Given the description of an element on the screen output the (x, y) to click on. 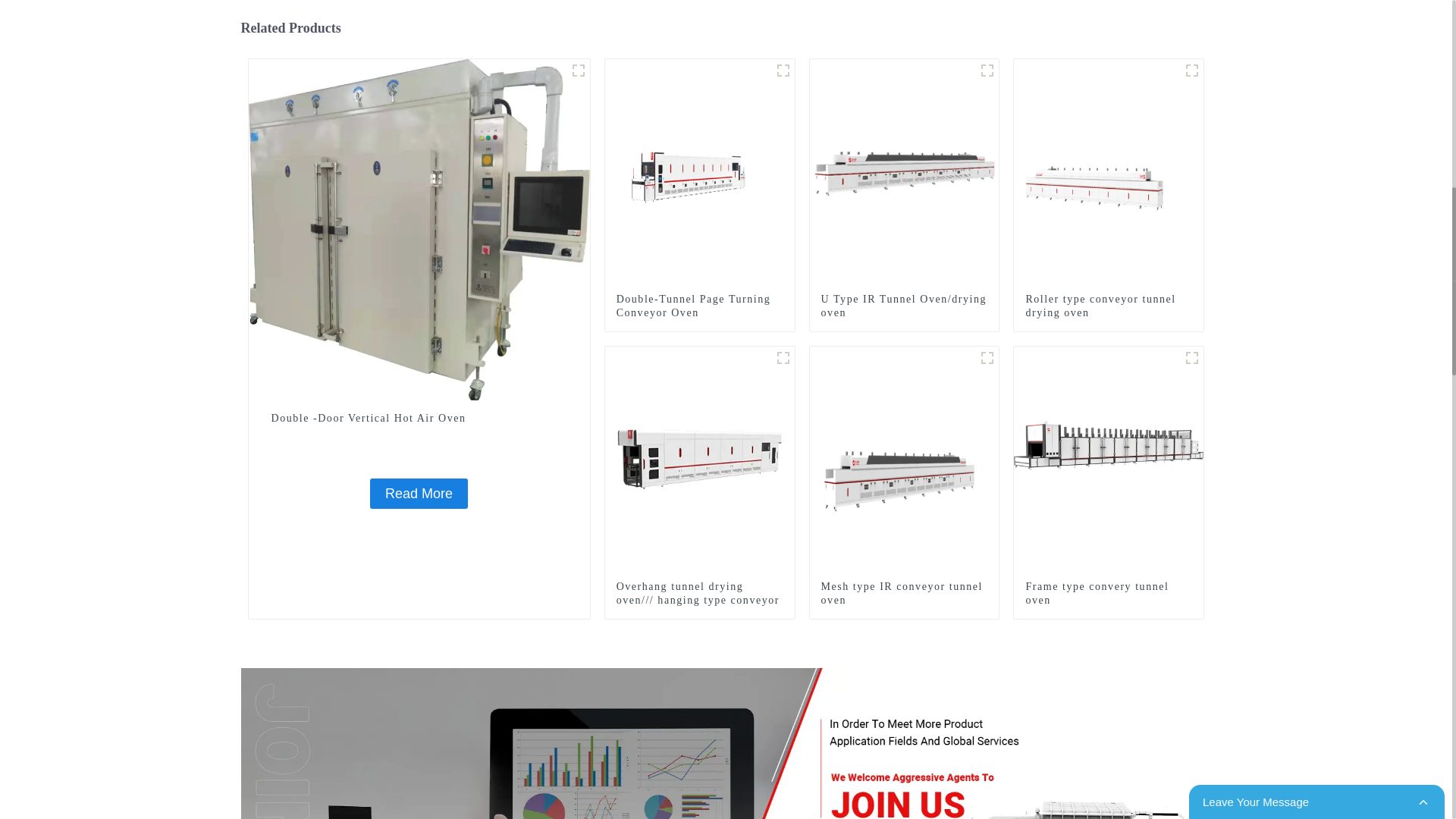
Double-Tunnel Page Turning Conveyor Oven (699, 306)
Double -Door Vertical Hot Air Oven (418, 418)
Roller type conveyor tunnel drying oven (1108, 173)
2 (986, 69)
3 (782, 357)
Roller type conveyor tunnel drying oven (1108, 306)
Double -Door Vertical Hot Air Oven (418, 493)
Double-Tunnel Page Turning Conveyor Oven (699, 306)
Double-Tunnel Page Turning Conveyor Oven (699, 173)
Double -Door Vertical Hot Air Oven (418, 228)
